Given the description of an element on the screen output the (x, y) to click on. 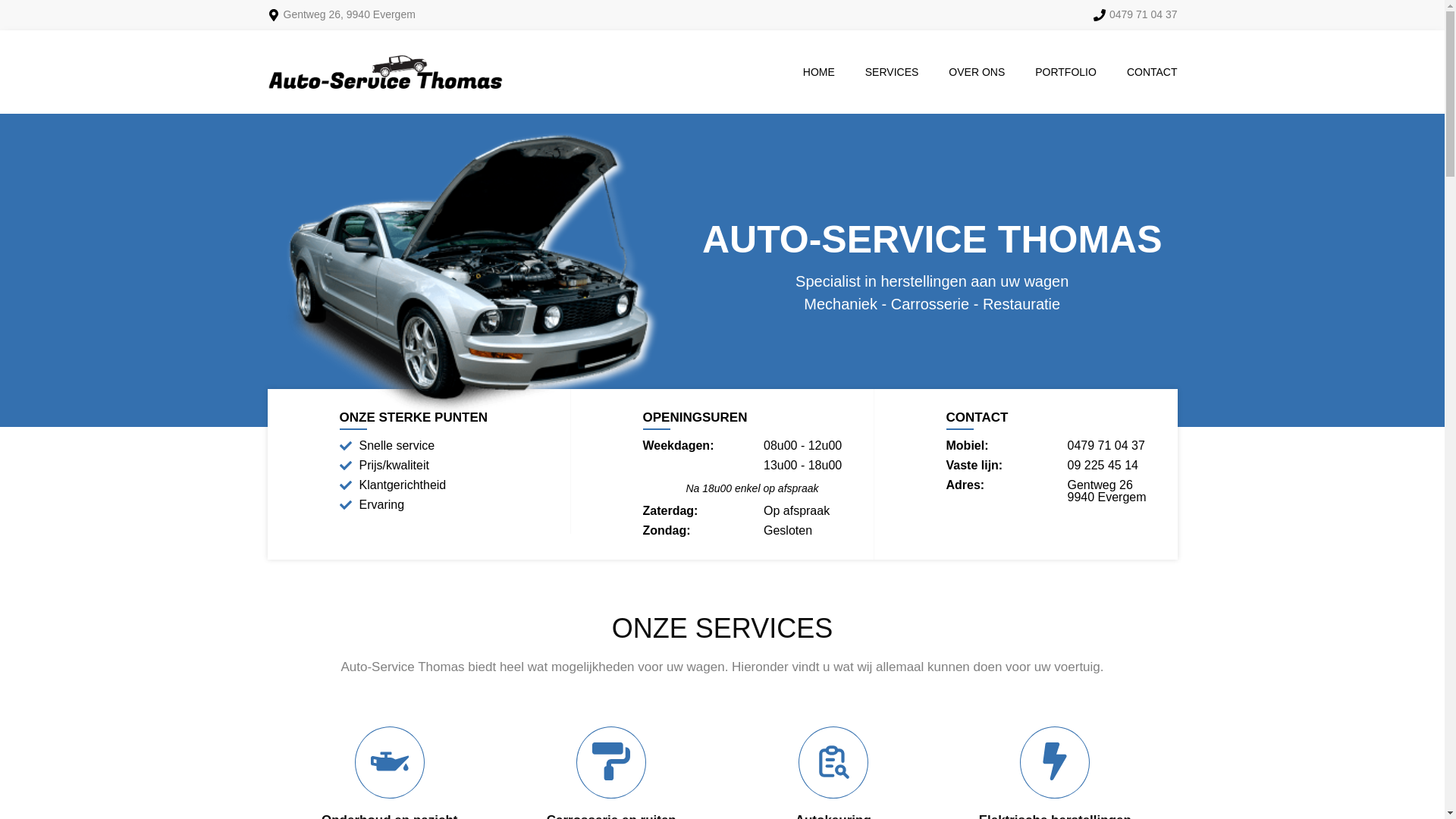
CONTACT Element type: text (1144, 71)
SERVICES Element type: text (892, 71)
PORTFOLIO Element type: text (1065, 71)
OVER ONS Element type: text (976, 71)
HOME Element type: text (818, 71)
